Given the description of an element on the screen output the (x, y) to click on. 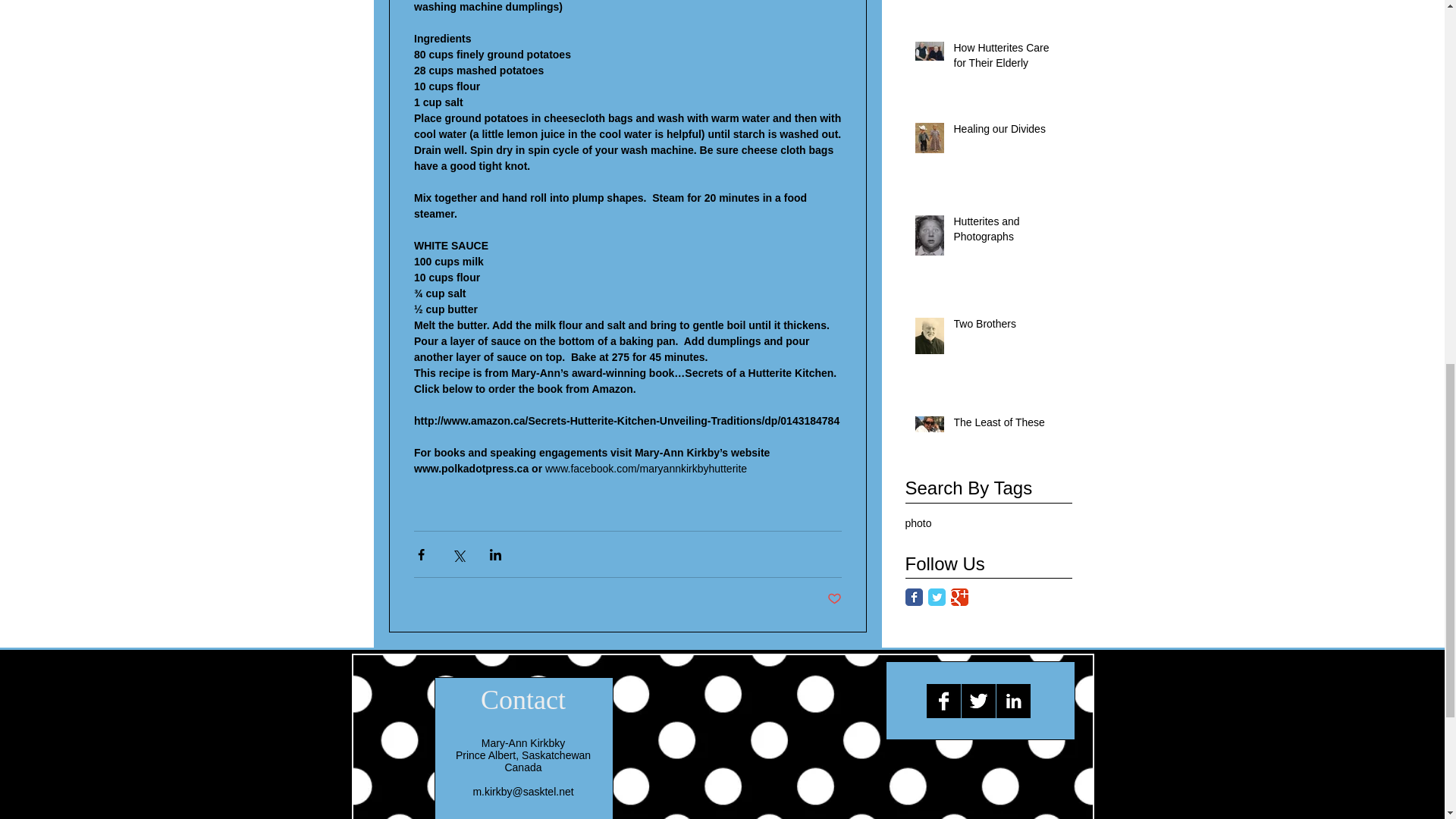
Hutterites and Photographs (1007, 232)
Post not marked as liked (834, 599)
photo (918, 522)
Healing our Divides (1007, 132)
The Least of These (1007, 425)
Two Brothers (1007, 327)
How Hutterites Care for Their Elderly (1007, 58)
